Given the description of an element on the screen output the (x, y) to click on. 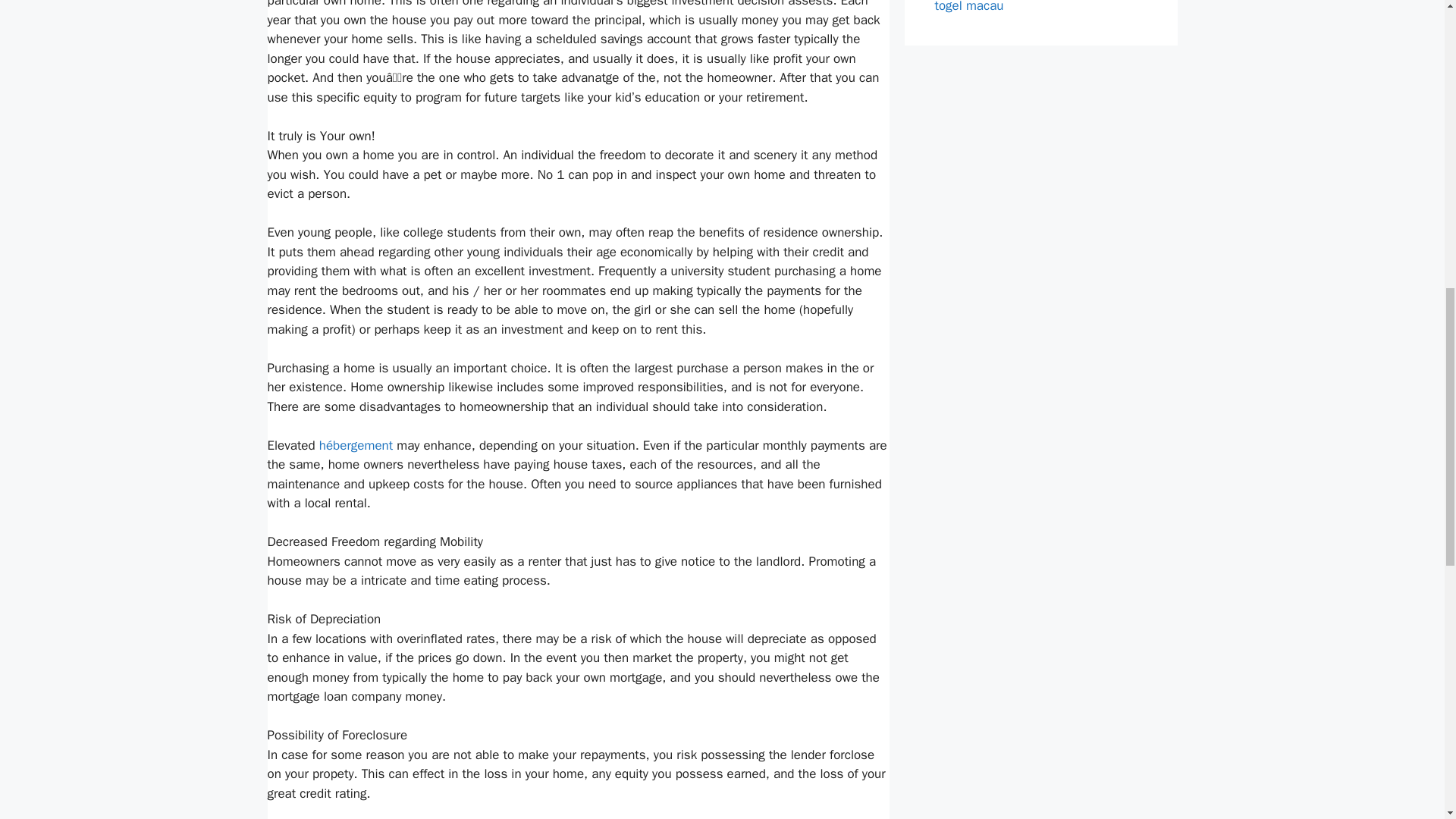
togel macau (968, 6)
